Given the description of an element on the screen output the (x, y) to click on. 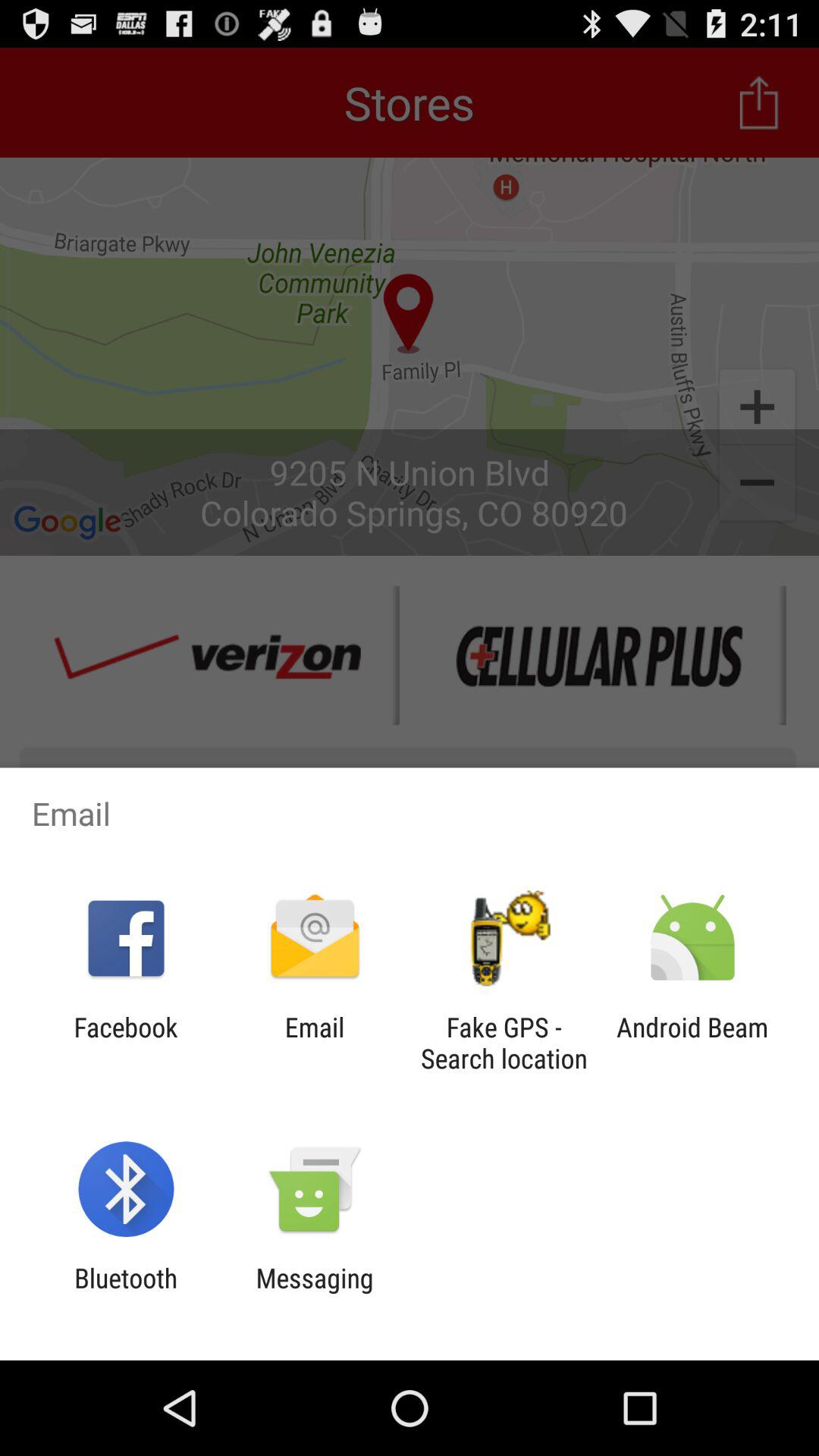
launch the android beam (692, 1042)
